Given the description of an element on the screen output the (x, y) to click on. 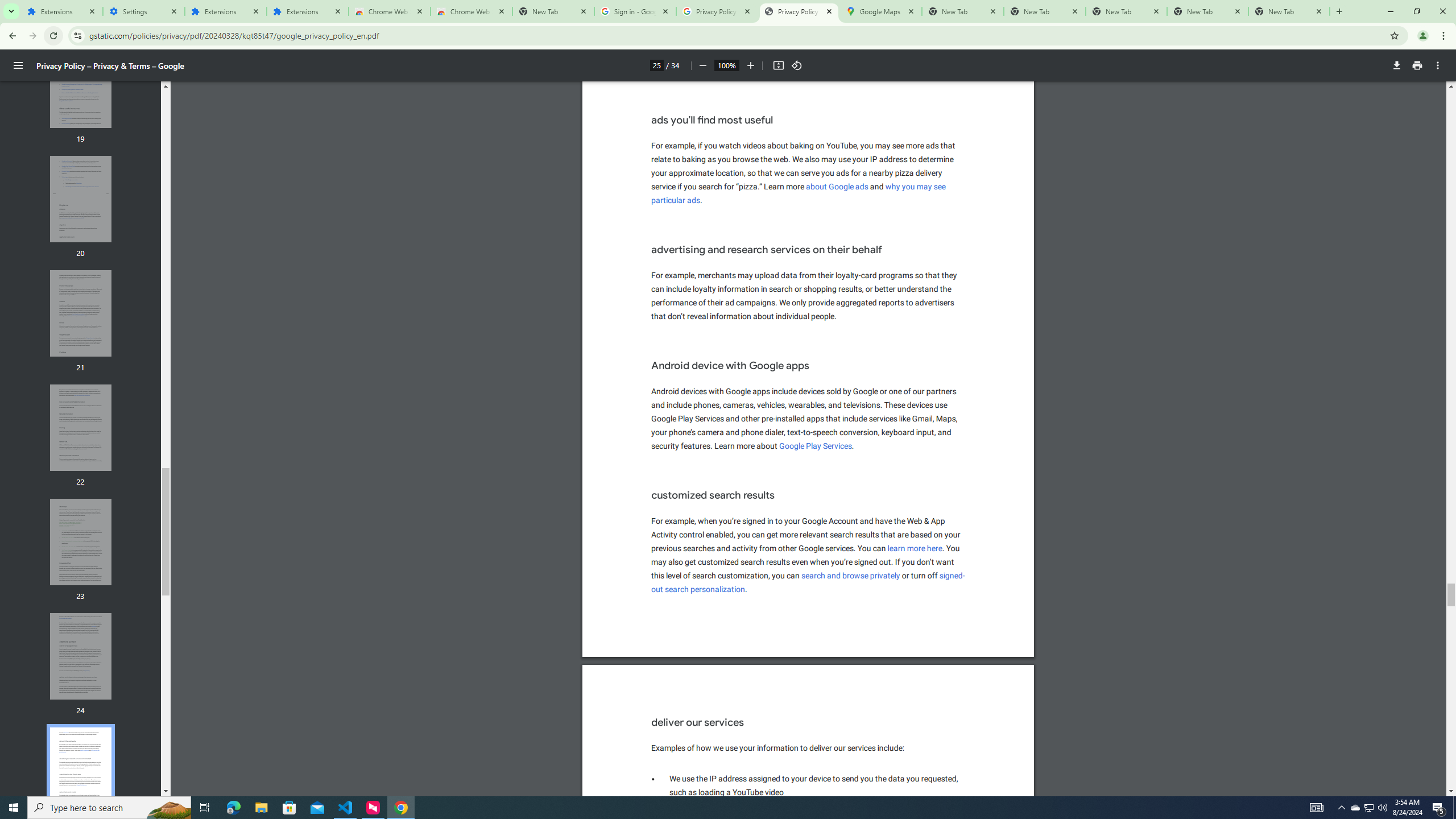
Zoom out (702, 65)
about Google ads (837, 186)
Extensions (225, 11)
New Tab (552, 11)
out search personalization (697, 589)
learn more here (915, 548)
Thumbnail for page 24 (80, 656)
signed (952, 575)
search and browse privately (850, 575)
Thumbnail for page 23 (80, 541)
Thumbnail for page 19 (80, 84)
Settings (143, 11)
